Given the description of an element on the screen output the (x, y) to click on. 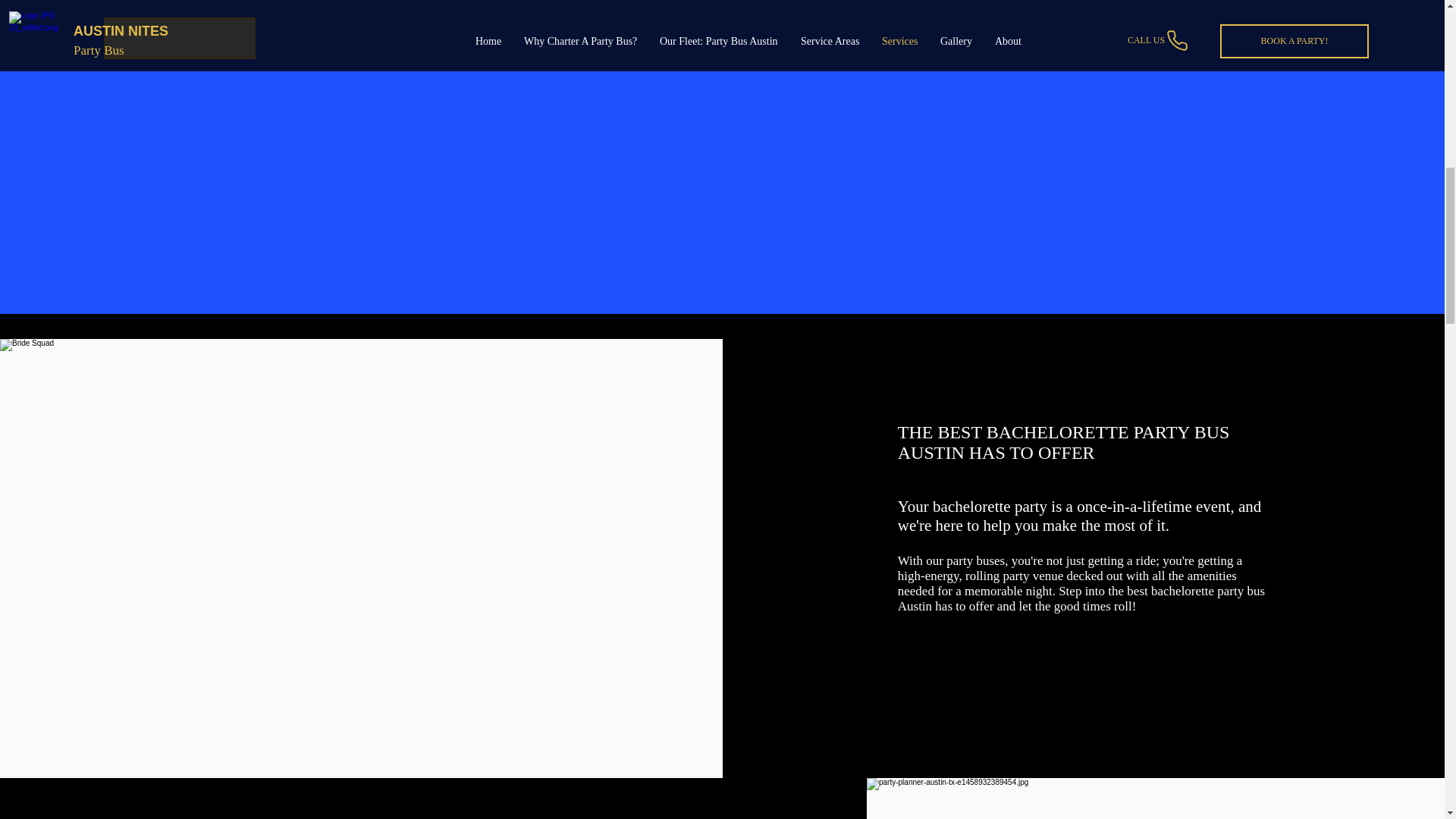
BOOK YOUR PARTY! (179, 37)
